Given the description of an element on the screen output the (x, y) to click on. 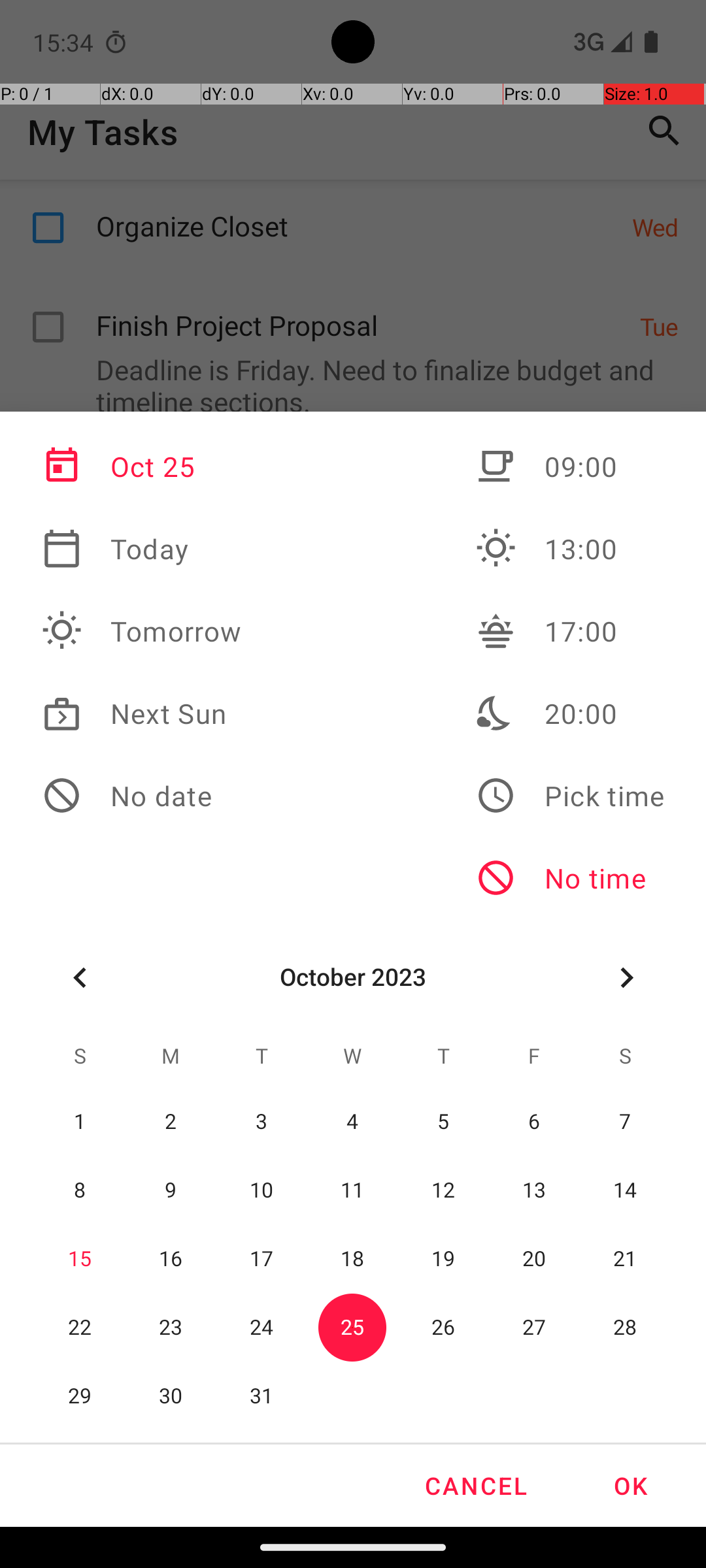
Oct 25 Element type: android.widget.CompoundButton (141, 466)
